Given the description of an element on the screen output the (x, y) to click on. 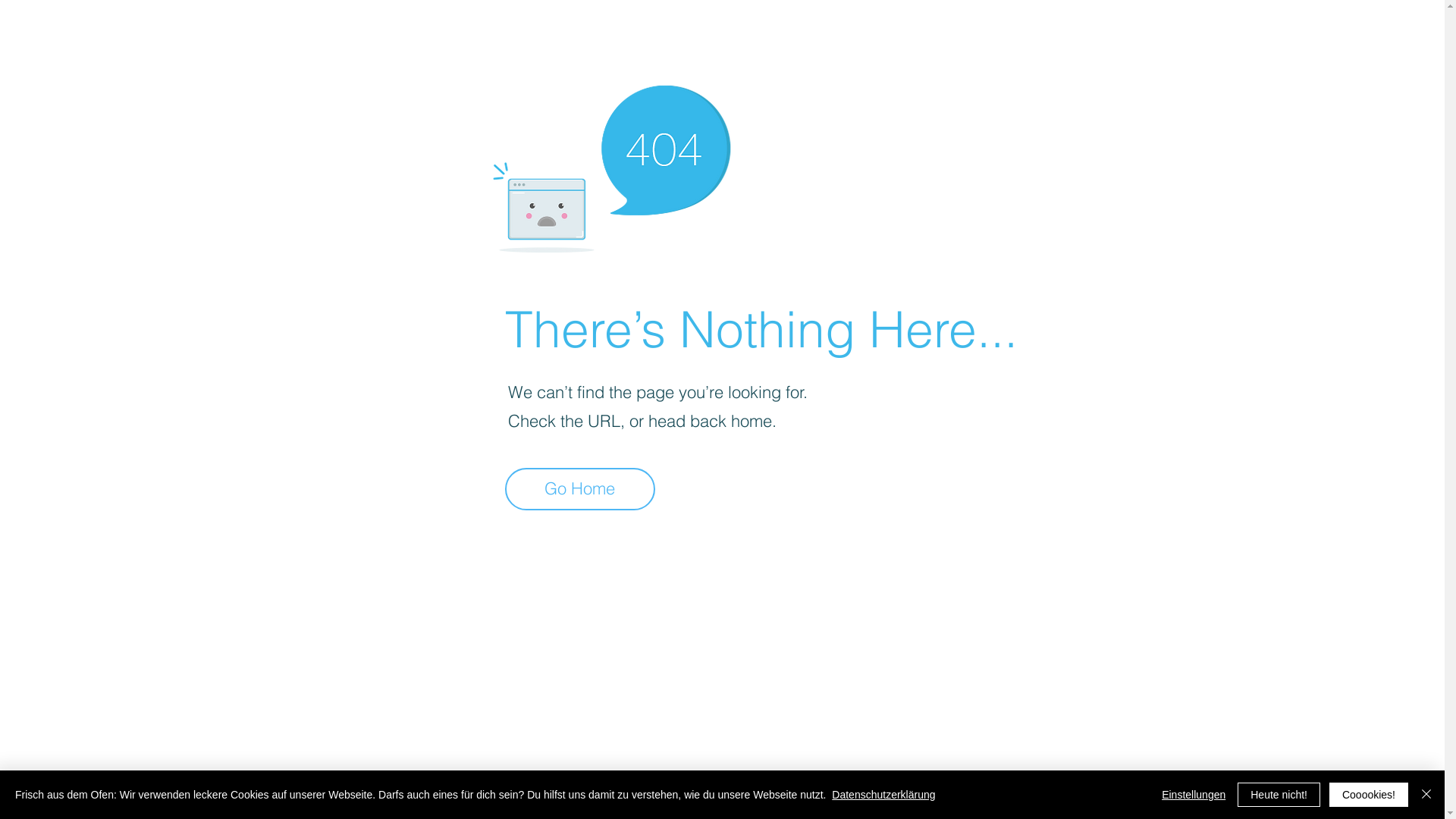
Go Home Element type: text (580, 488)
Cooookies! Element type: text (1368, 794)
404-icon_2.png Element type: hover (610, 164)
Heute nicht! Element type: text (1278, 794)
